Given the description of an element on the screen output the (x, y) to click on. 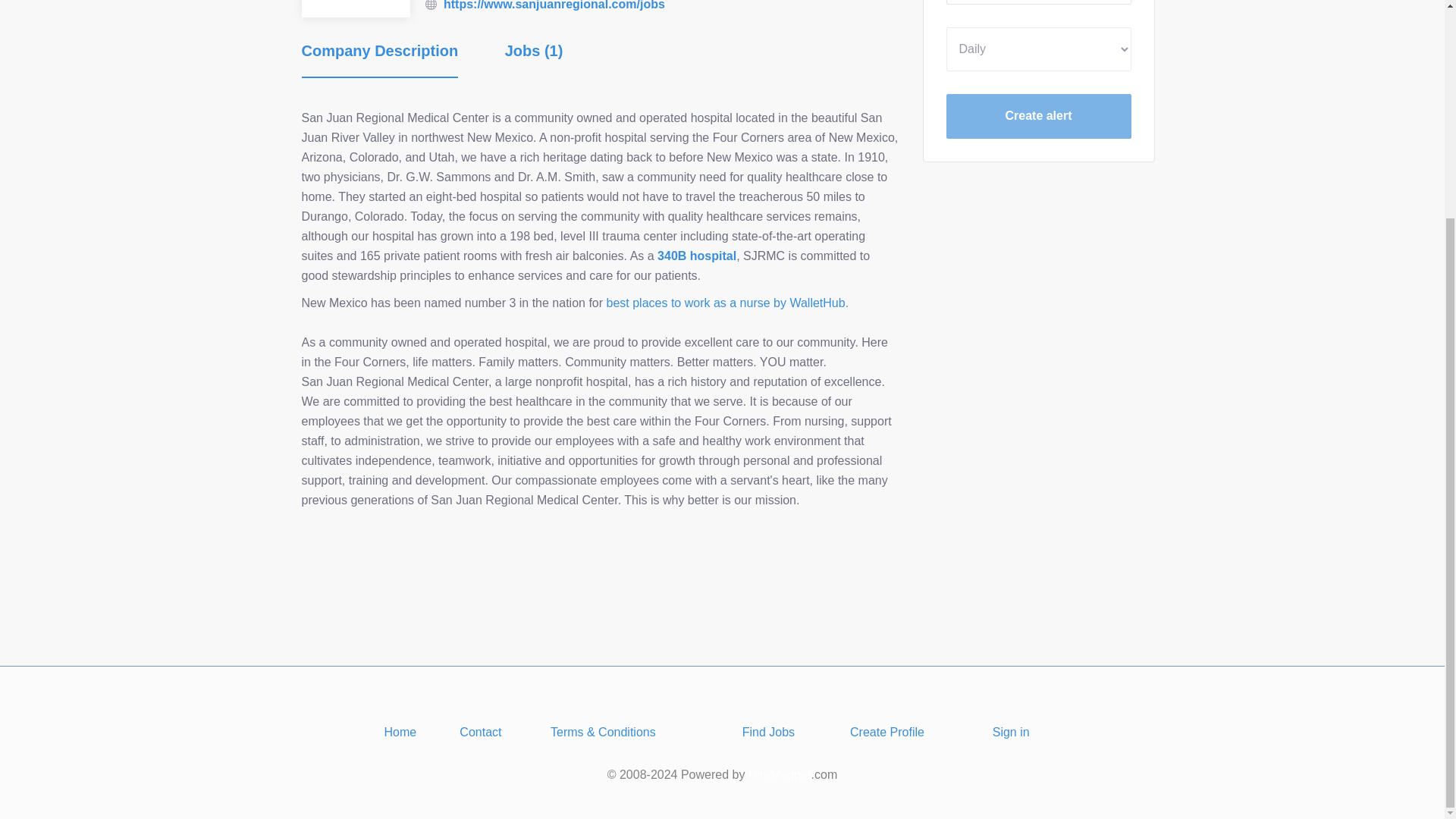
Company Description (379, 59)
340B hospital (697, 255)
Create alert (1038, 116)
